Given the description of an element on the screen output the (x, y) to click on. 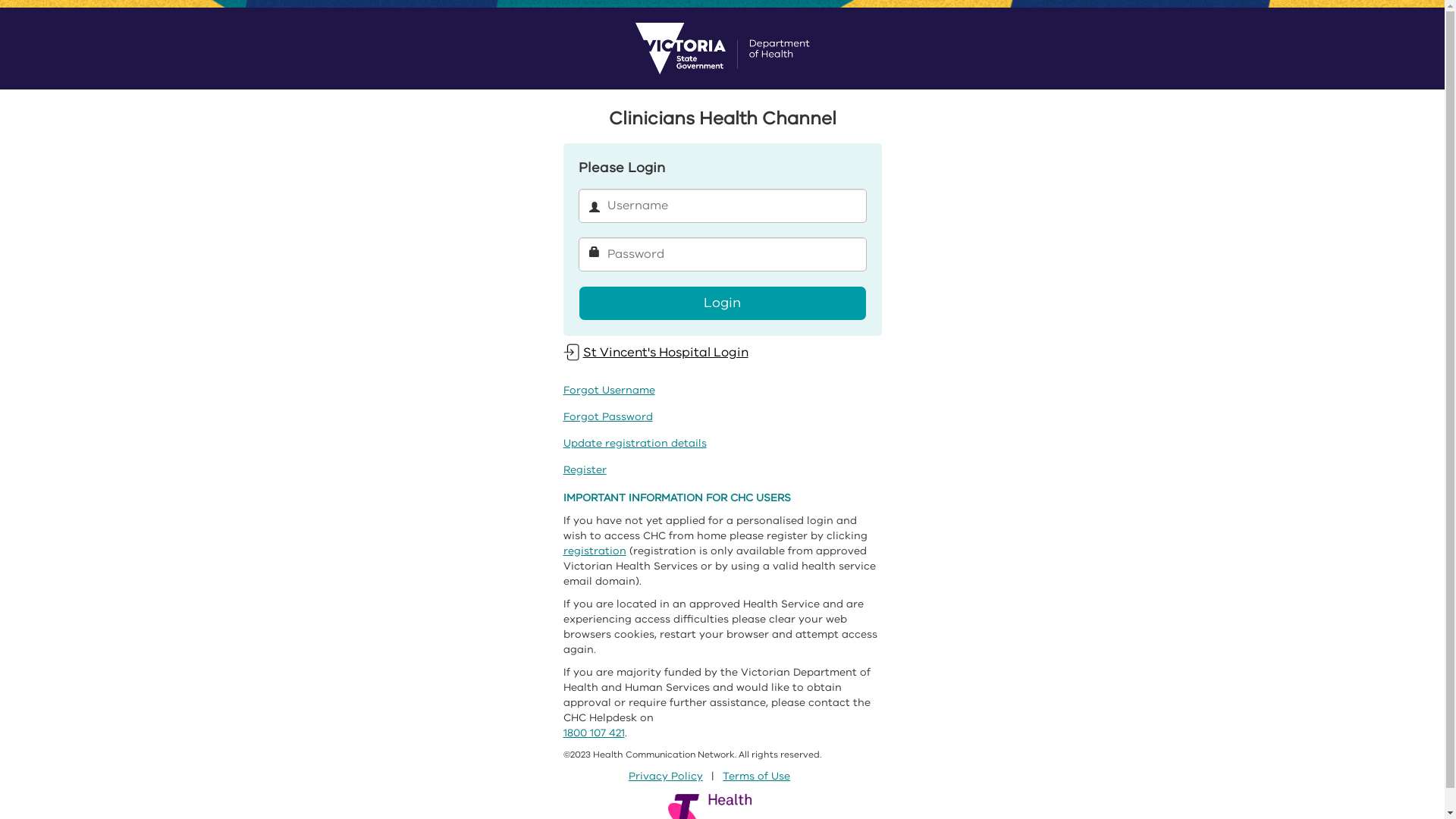
Forgot Password Element type: text (607, 416)
Update registration details Element type: text (634, 443)
registration Element type: text (593, 550)
St Vincent's Hospital Login Element type: text (654, 351)
Register Element type: text (583, 469)
Privacy Policy Element type: text (665, 775)
Login Element type: text (721, 302)
Terms of Use Element type: text (756, 775)
Forgot Username Element type: text (608, 389)
1800 107 421 Element type: text (593, 732)
